Given the description of an element on the screen output the (x, y) to click on. 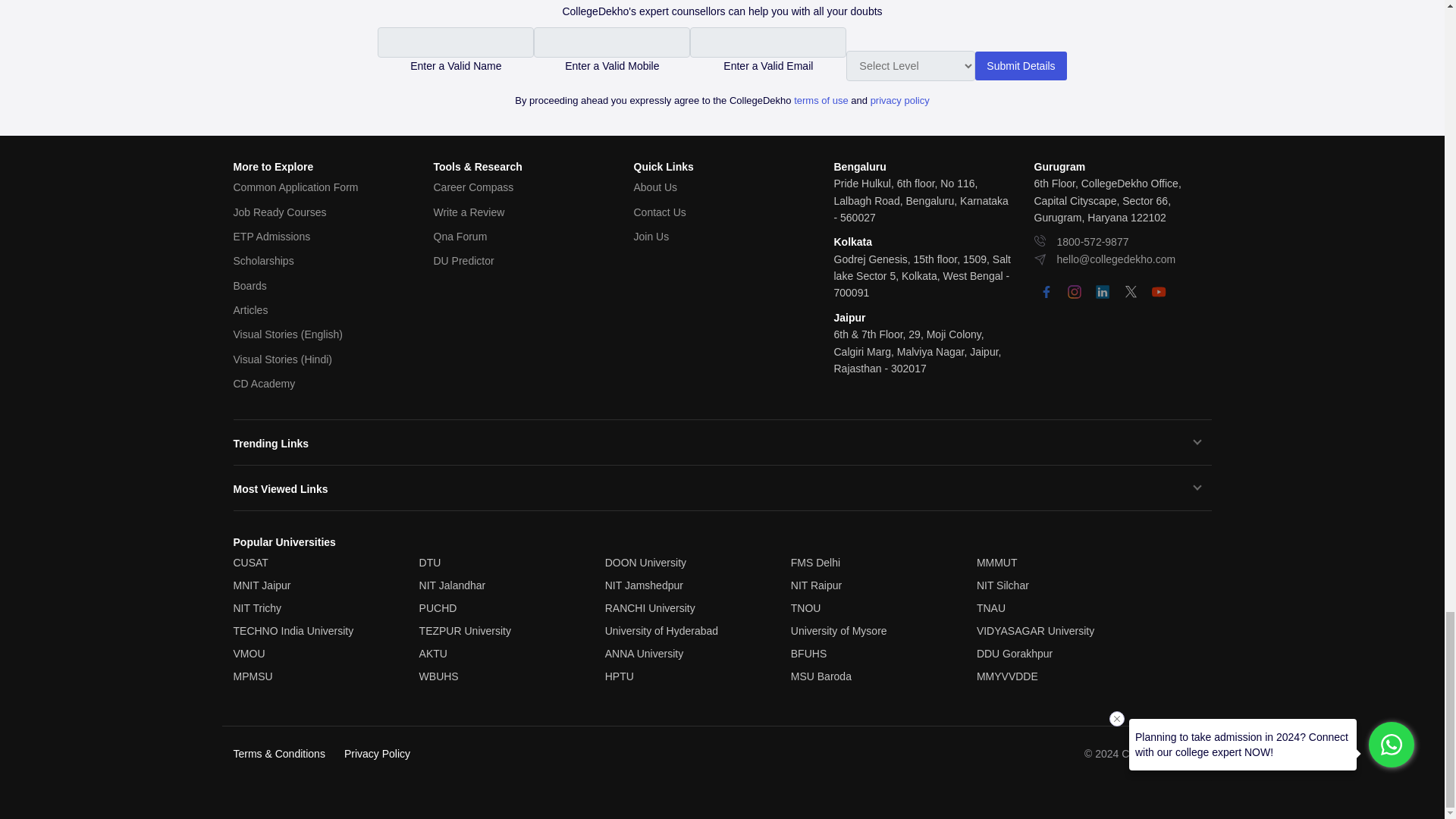
Submit Details (1020, 65)
